Given the description of an element on the screen output the (x, y) to click on. 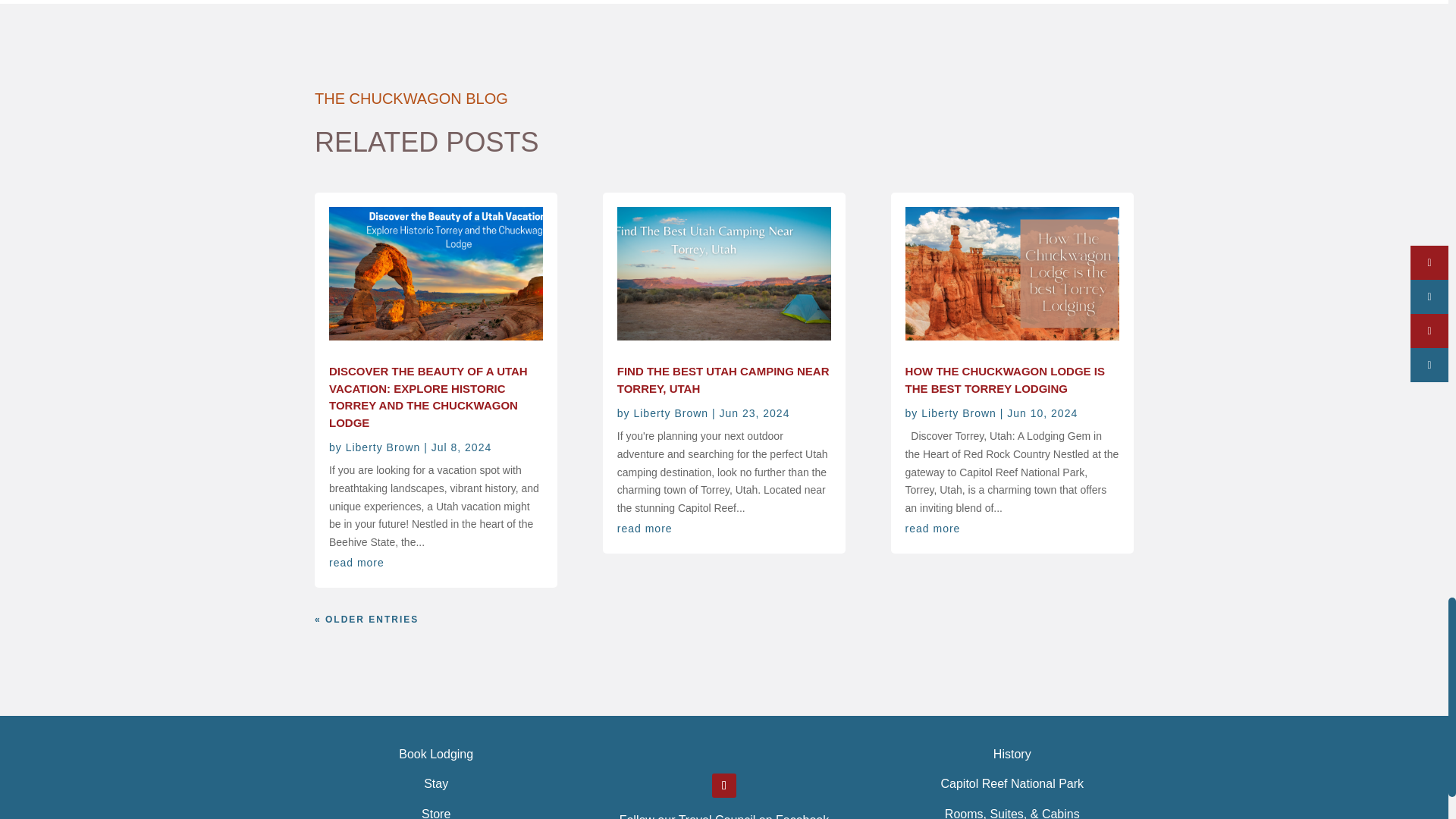
Posts by Liberty Brown (958, 413)
Posts by Liberty Brown (383, 447)
Follow on Facebook (723, 785)
Posts by Liberty Brown (670, 413)
Liberty Brown (383, 447)
read more (356, 562)
